Given the description of an element on the screen output the (x, y) to click on. 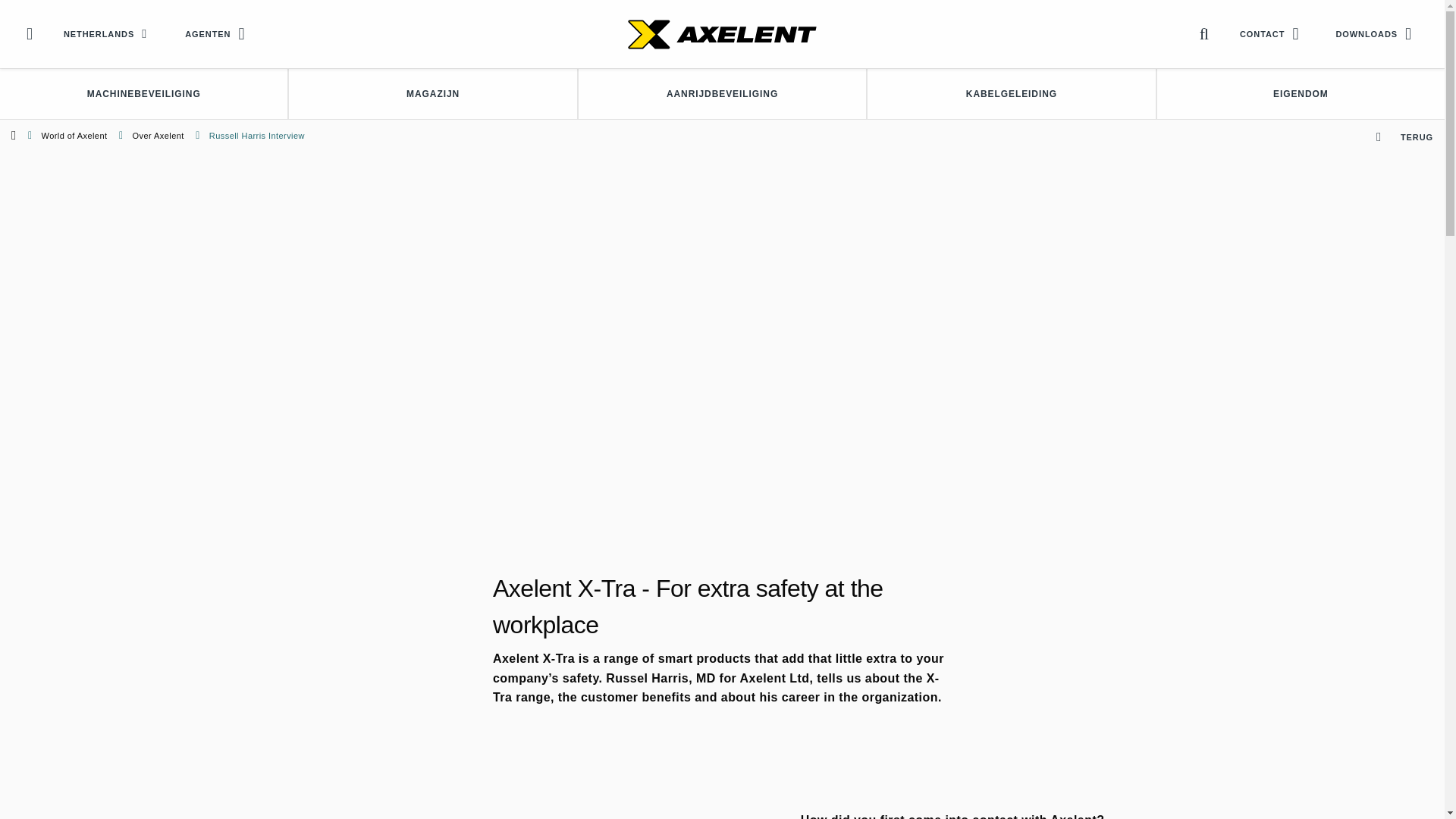
DOWNLOADS (1376, 33)
NETHERLANDS (109, 33)
MAGAZIJN (432, 93)
CONTACT (1272, 33)
AGENTEN (218, 33)
MACHINEBEVEILIGING (143, 93)
AANRIJDBEVEILIGING (722, 93)
